Given the description of an element on the screen output the (x, y) to click on. 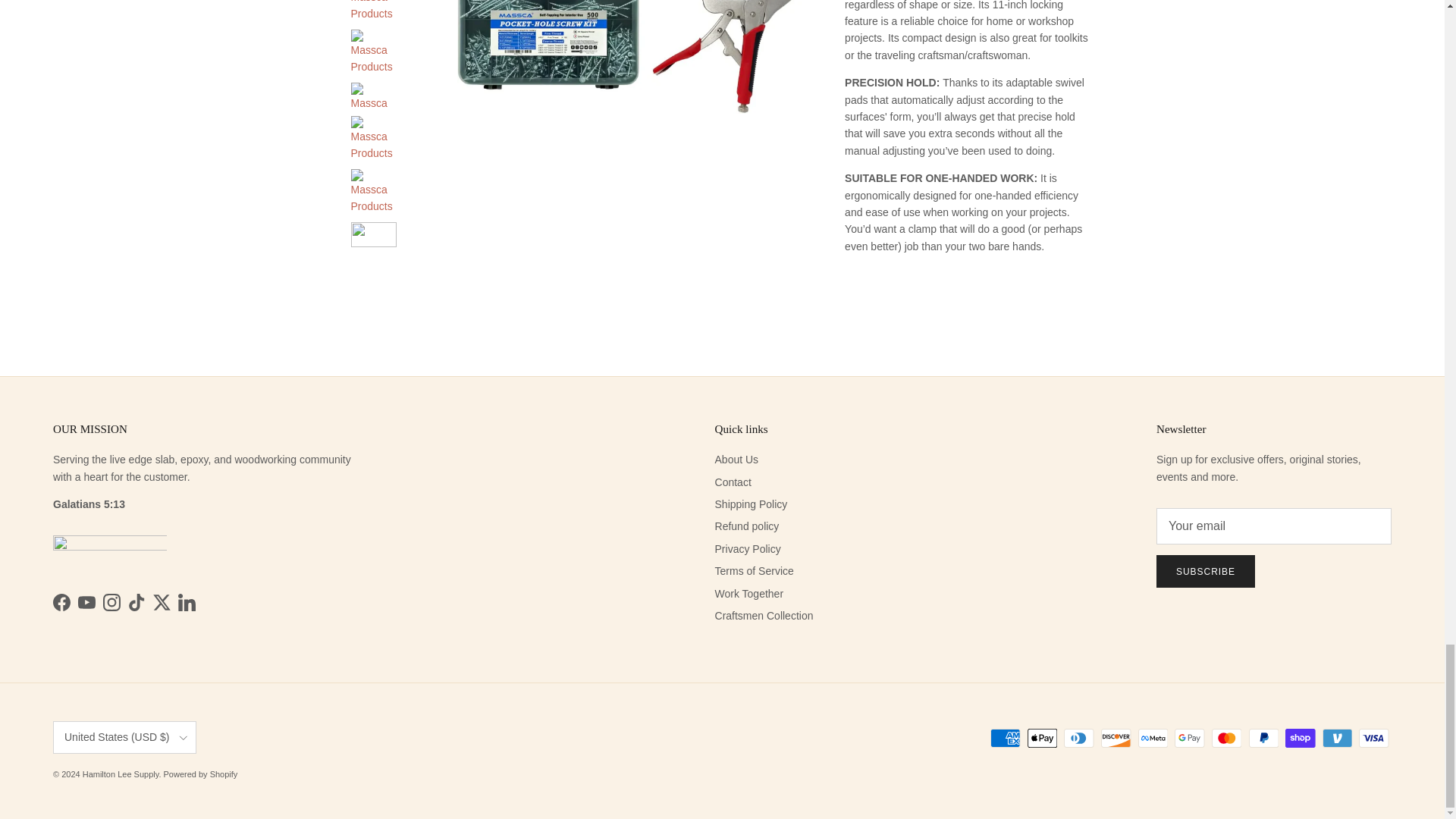
Hamilton Lee Supply on YouTube (87, 601)
Discover (1115, 737)
Mastercard (1226, 737)
Diners Club (1078, 737)
PayPal (1262, 737)
Google Pay (1189, 737)
American Express (1005, 737)
Hamilton Lee Supply on Instagram (111, 601)
Hamilton Lee Supply on Twitter (161, 601)
Apple Pay (1042, 737)
